Given the description of an element on the screen output the (x, y) to click on. 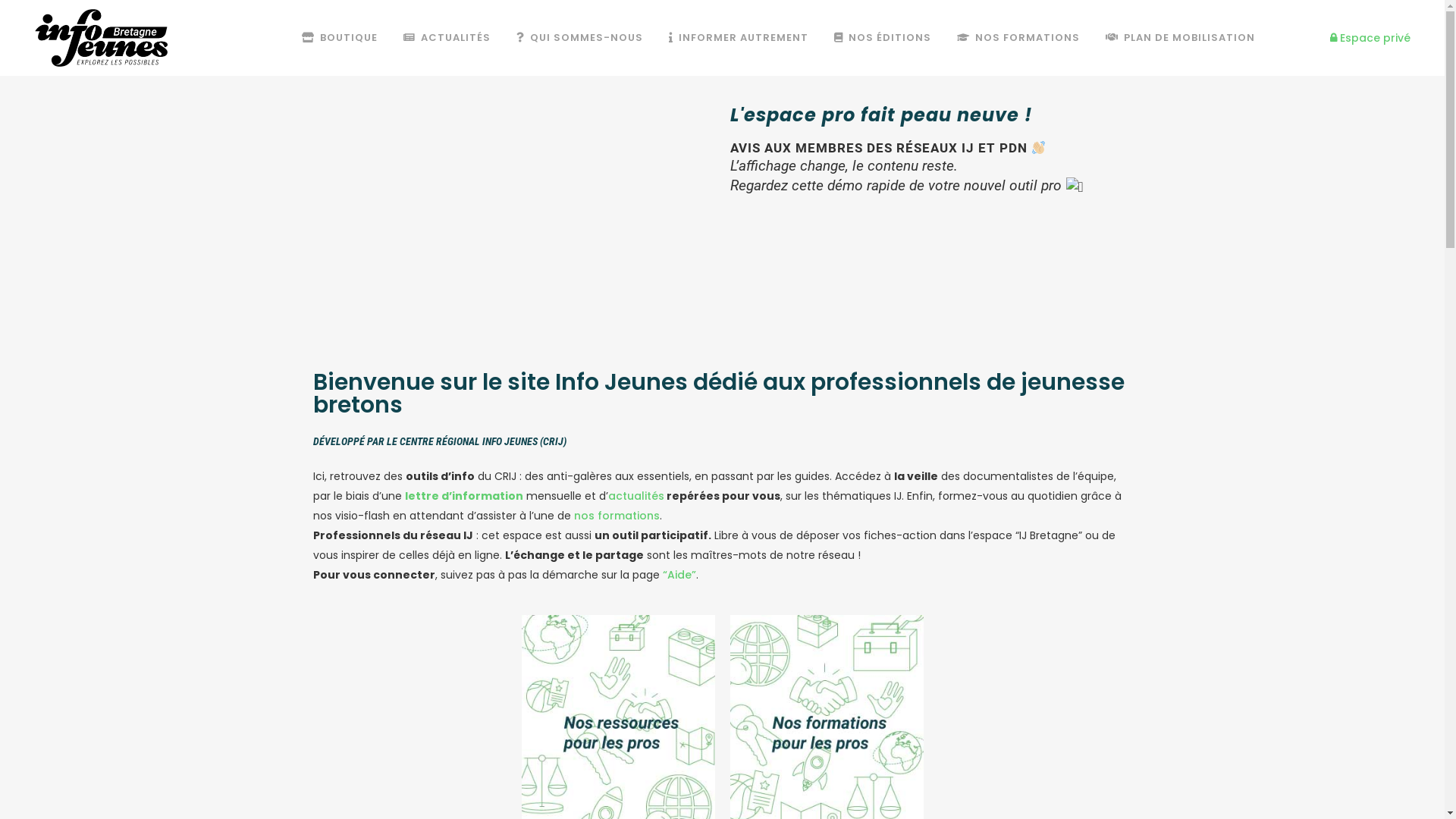
NOS FORMATIONS Element type: text (1018, 37)
PLAN DE MOBILISATION Element type: text (1179, 37)
BOUTIQUE Element type: text (339, 37)
nos formations Element type: text (615, 515)
QUI SOMMES-NOUS Element type: text (579, 37)
INFORMER AUTREMENT Element type: text (738, 37)
